Given the description of an element on the screen output the (x, y) to click on. 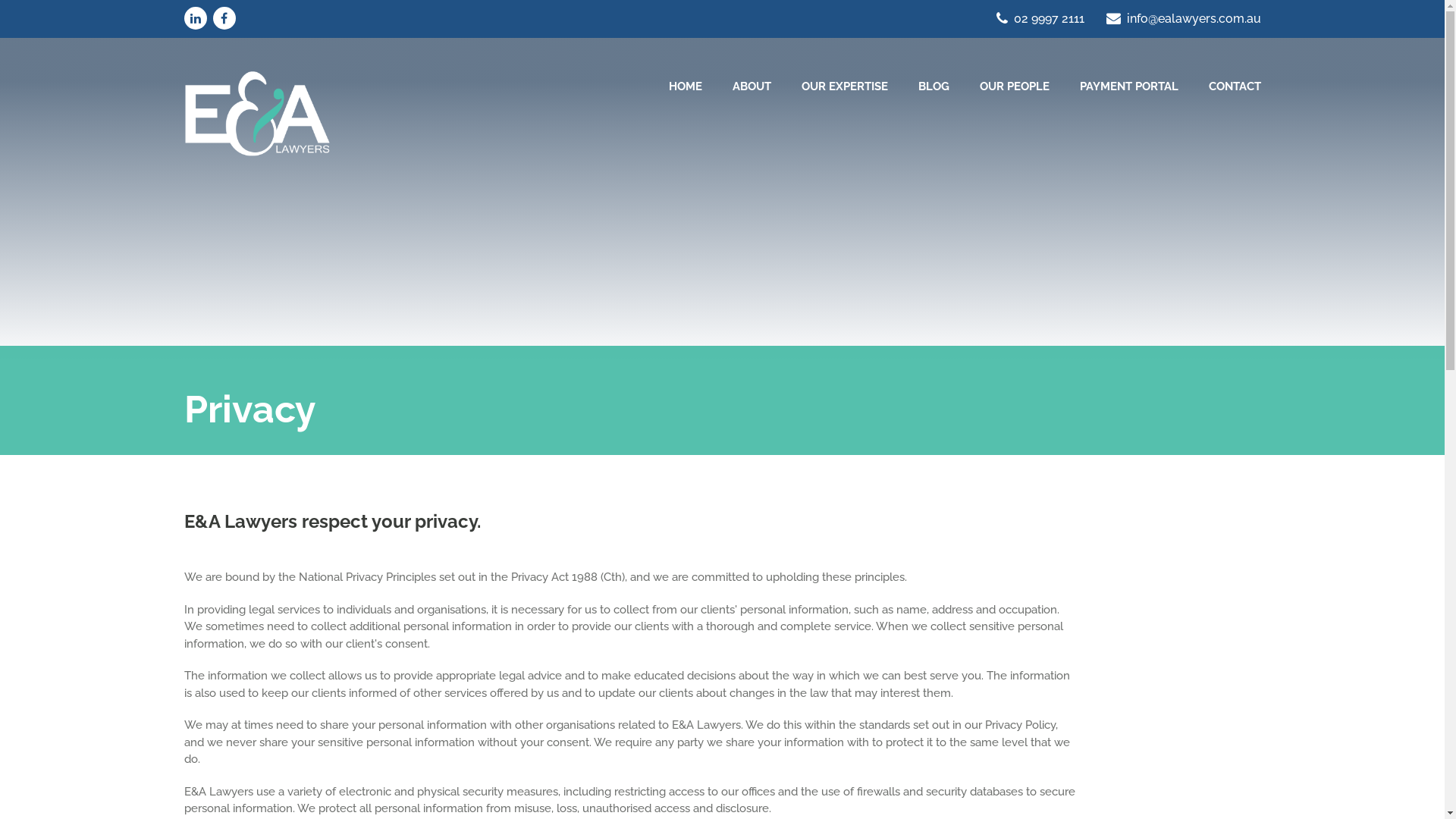
  02 9997 2111 Element type: text (1041, 18)
E&A Lawyers Element type: hover (256, 112)
  info@ealawyers.com.au Element type: text (1182, 18)
PAYMENT PORTAL Element type: text (1128, 86)
ABOUT Element type: text (751, 86)
Facebook Element type: hover (223, 17)
HOME Element type: text (685, 86)
OUR EXPERTISE Element type: text (843, 86)
OUR PEOPLE Element type: text (1014, 86)
LinkedIn Element type: hover (194, 17)
BLOG Element type: text (932, 86)
CONTACT Element type: text (1234, 86)
